Given the description of an element on the screen output the (x, y) to click on. 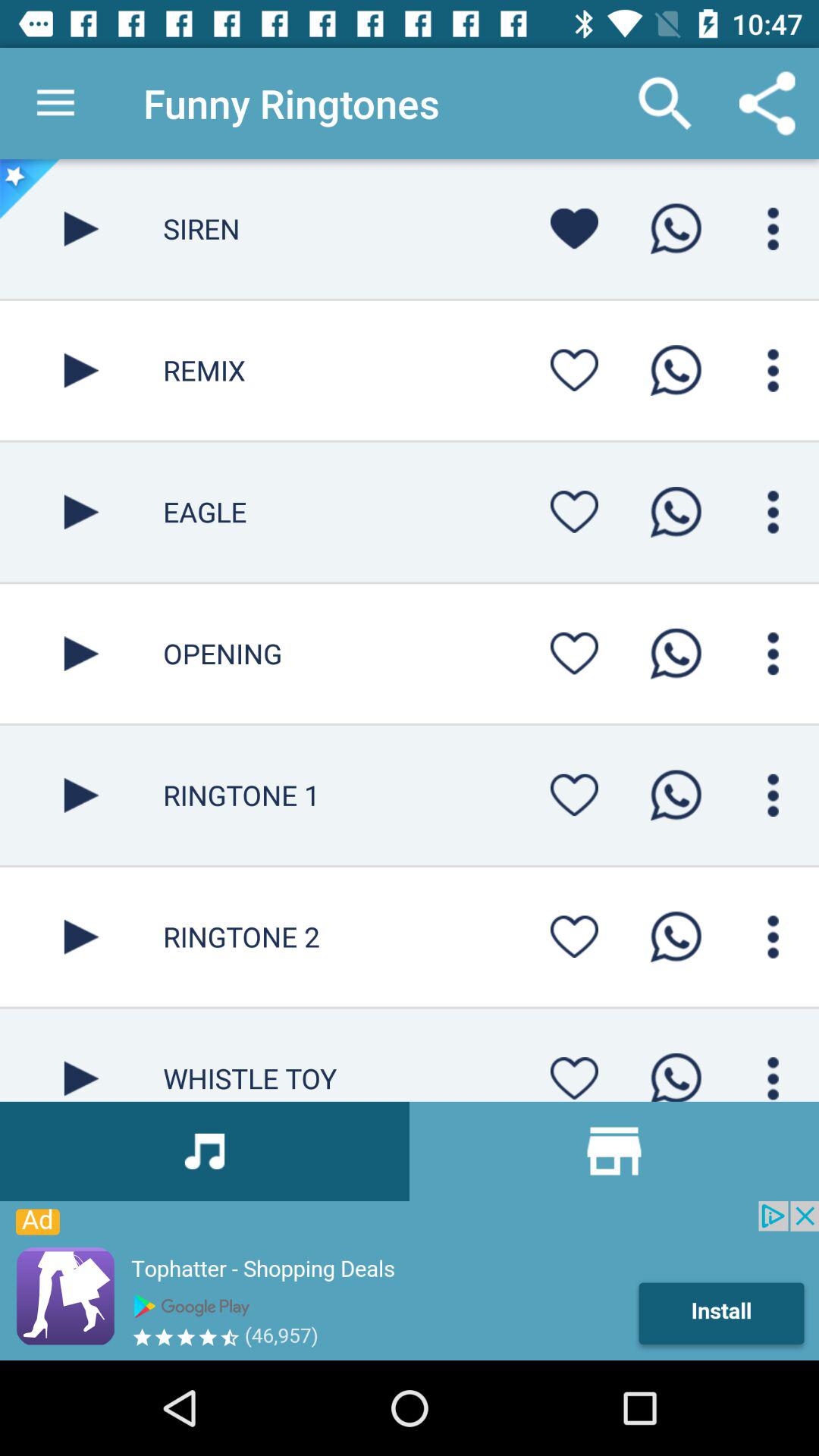
play siren (81, 228)
